Given the description of an element on the screen output the (x, y) to click on. 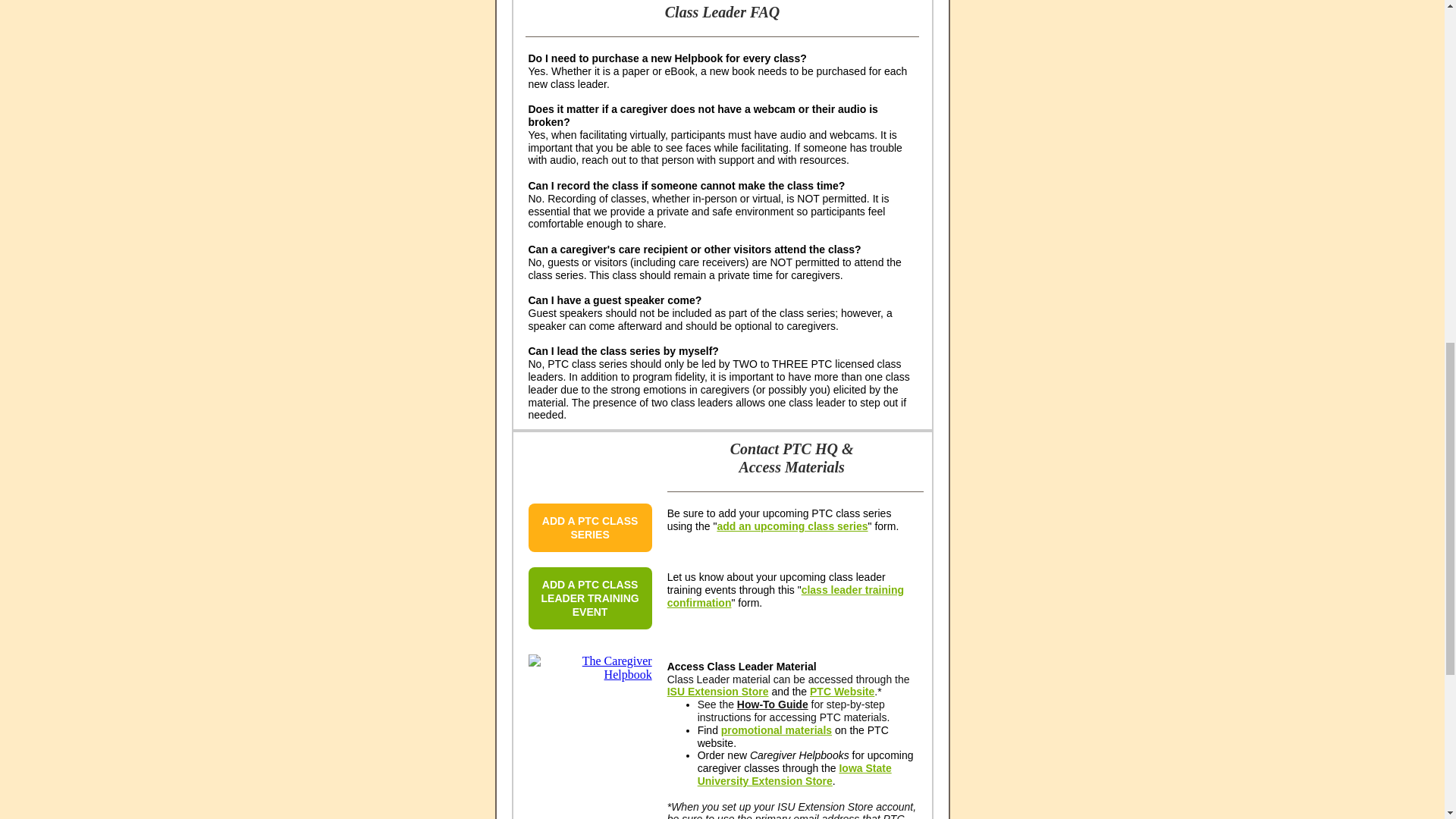
Iowa State University Extension Store (794, 774)
ADD A PTC CLASS SERIES (590, 527)
class leader training confirmation (785, 596)
ISU Extension Store (717, 691)
promotional materials (775, 729)
add an upcoming class series (791, 526)
How-To Guide (772, 704)
ADD A PTC CLASS LEADER TRAINING EVENT (590, 598)
PTC Website (842, 691)
